Given the description of an element on the screen output the (x, y) to click on. 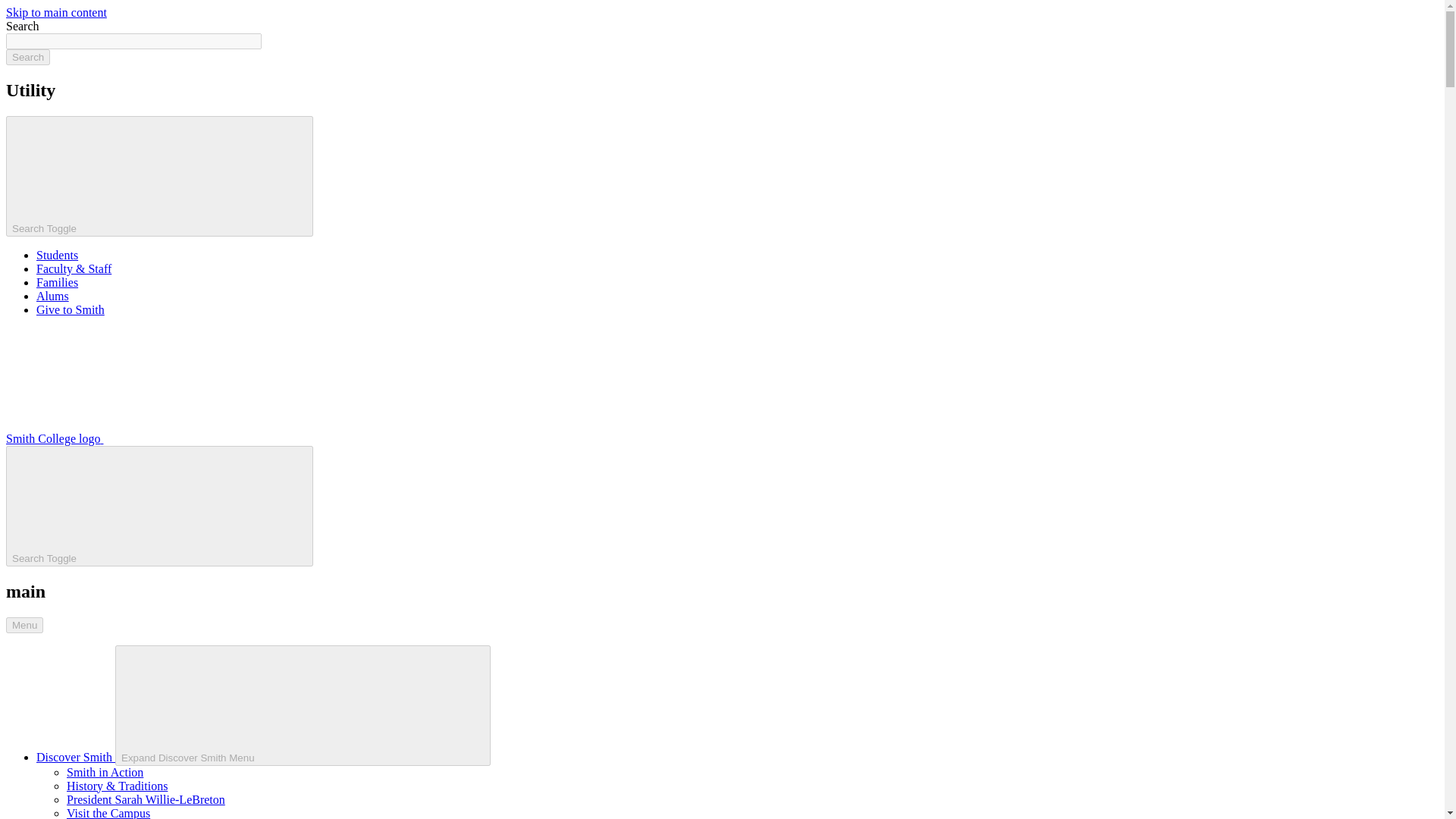
Enter the terms you wish to search for. (133, 41)
Search (27, 57)
Skip to main content (55, 11)
Search Toggle (159, 176)
Students (57, 254)
Expand Discover Smith Menu (302, 705)
Smith in Action (104, 771)
Give to Smith (70, 309)
Families (57, 282)
Search Toggle (159, 505)
Discover Smith (75, 757)
President Sarah Willie-LeBreton (145, 799)
Search (27, 57)
Menu (24, 625)
Alums (52, 295)
